Given the description of an element on the screen output the (x, y) to click on. 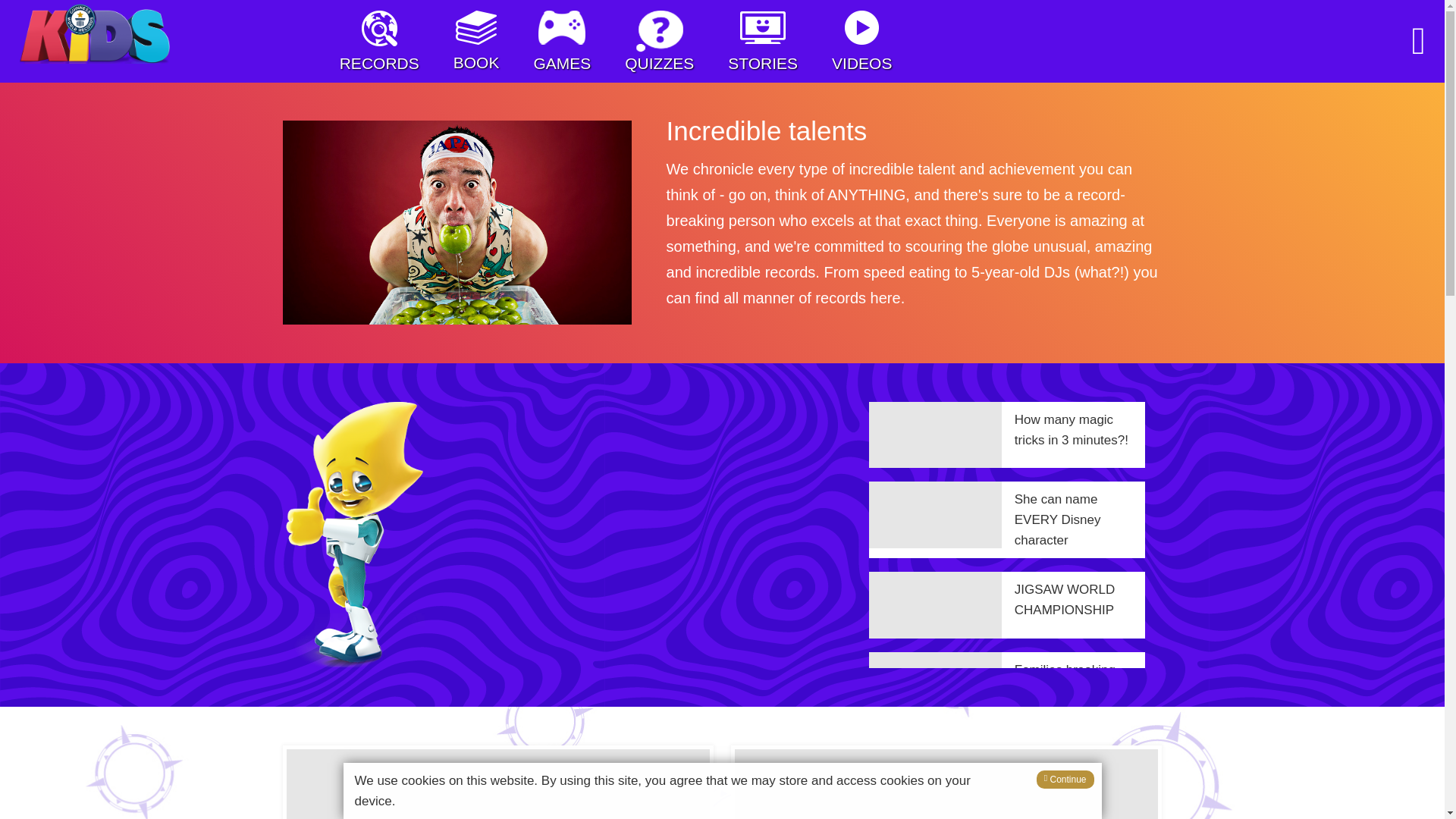
RECORDS (378, 41)
GAMES (561, 41)
BOOK (475, 40)
QUIZZES (659, 41)
STORIES (762, 41)
VIDEOS (860, 41)
